Given the description of an element on the screen output the (x, y) to click on. 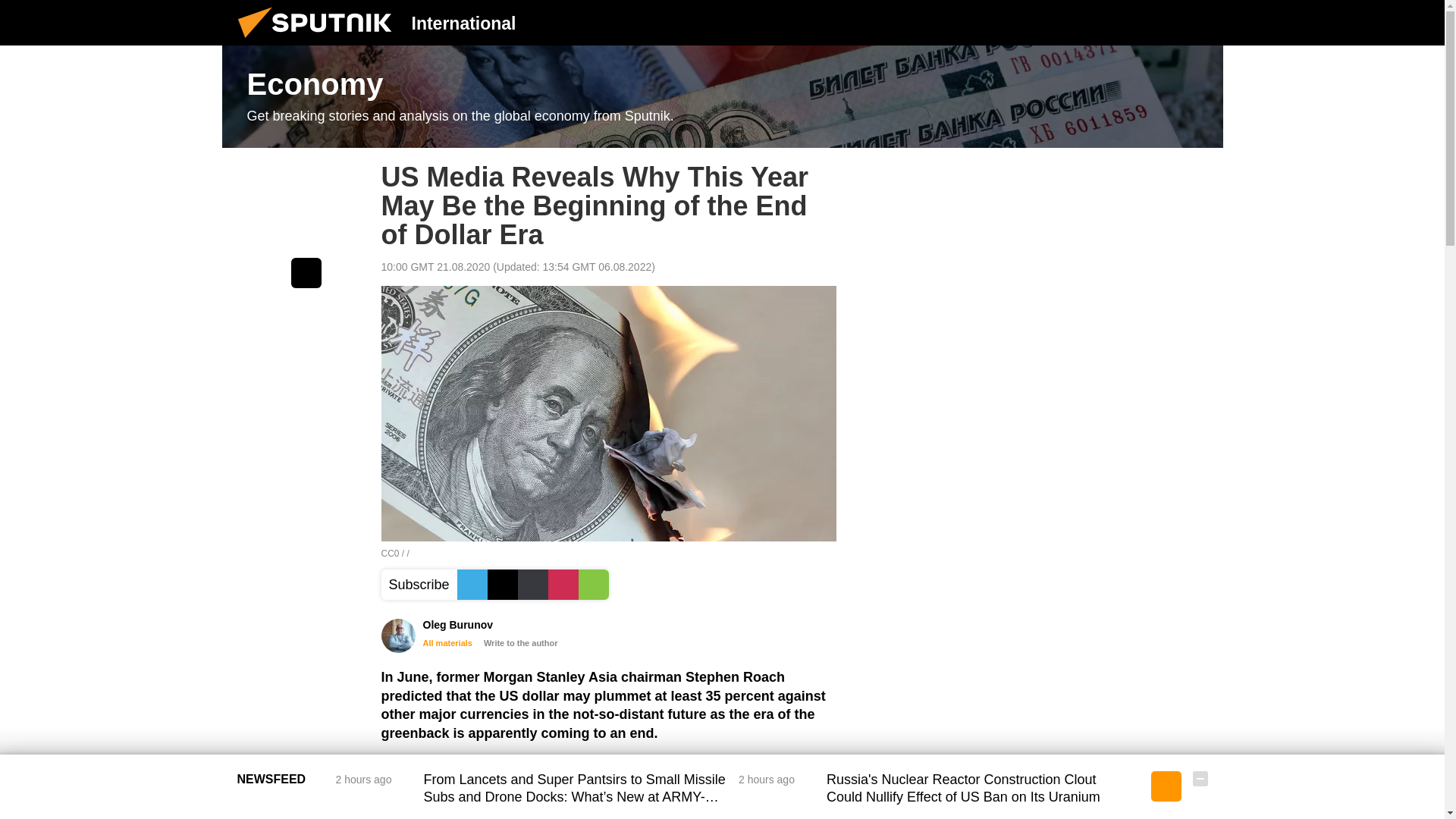
Authorization (1123, 22)
Sputnik International (319, 41)
Economy (722, 96)
Chats (1199, 22)
